Given the description of an element on the screen output the (x, y) to click on. 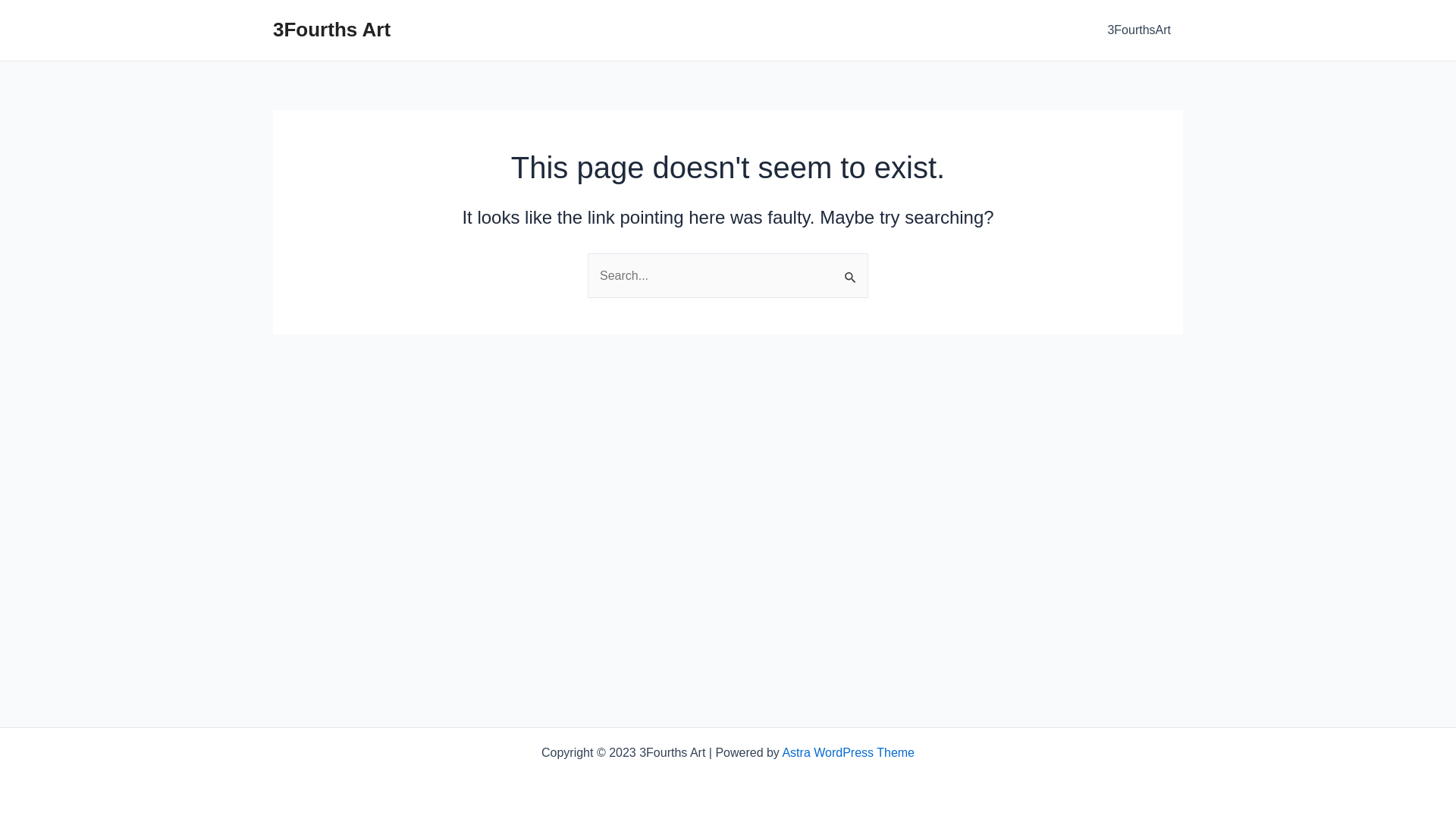
3FourthsArt Element type: text (1139, 30)
3Fourths Art Element type: text (331, 29)
Astra WordPress Theme Element type: text (847, 752)
Search Element type: text (851, 269)
